Given the description of an element on the screen output the (x, y) to click on. 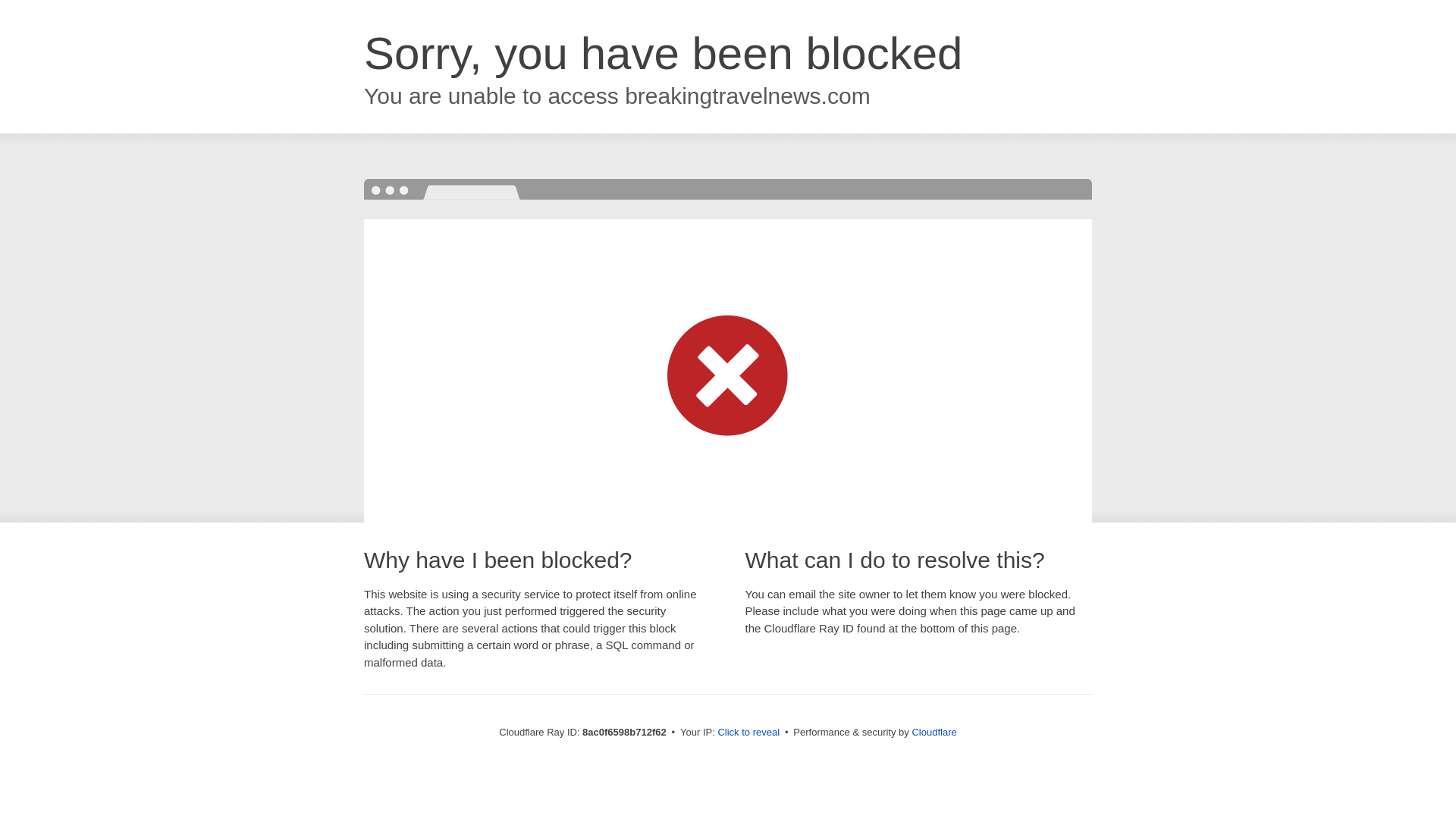
Click to reveal (747, 732)
Cloudflare (933, 731)
